Given the description of an element on the screen output the (x, y) to click on. 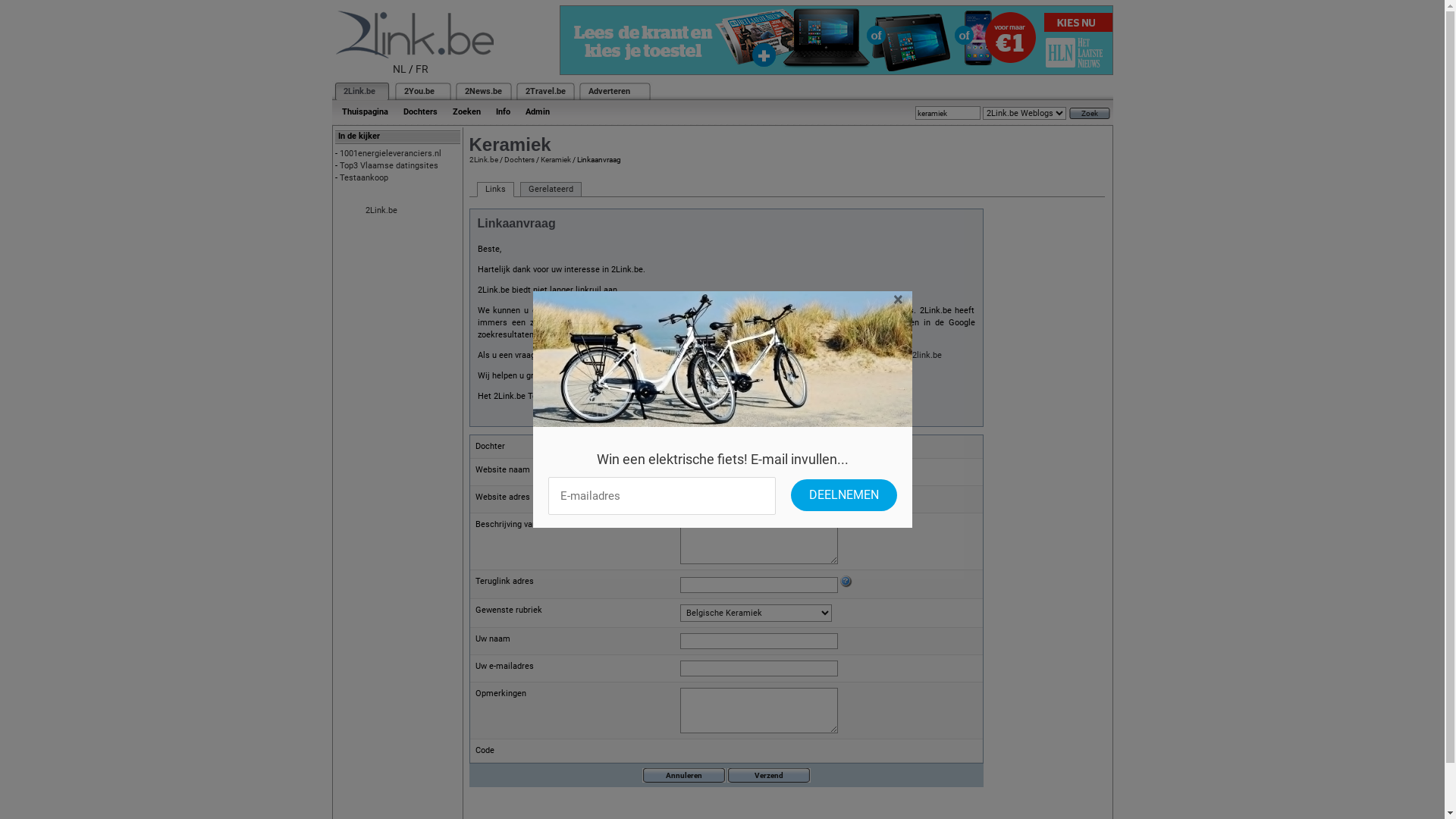
2Link.be Element type: text (358, 91)
Zoeken Element type: text (465, 111)
Zoek Element type: text (1089, 113)
Testaankoop Element type: text (363, 177)
Adverteren Element type: text (609, 91)
2News.be Element type: text (482, 91)
Keramiek Element type: text (554, 159)
1001energieleveranciers.nl Element type: text (390, 153)
Gerelateerd Element type: text (550, 189)
Verzend Element type: text (767, 775)
FR Element type: text (421, 68)
NL Element type: text (399, 68)
2Link.be Element type: text (482, 159)
Dochters Element type: text (420, 111)
2Travel.be Element type: text (544, 91)
Top3 Vlaamse datingsites Element type: text (388, 165)
Links Element type: text (494, 189)
2Link.be Element type: text (381, 210)
Admin Element type: text (536, 111)
Dochters Element type: text (518, 159)
Info Element type: text (502, 111)
Thuispagina Element type: text (364, 111)
info@2link.be Element type: text (915, 355)
2You.be Element type: text (418, 91)
